Given the description of an element on the screen output the (x, y) to click on. 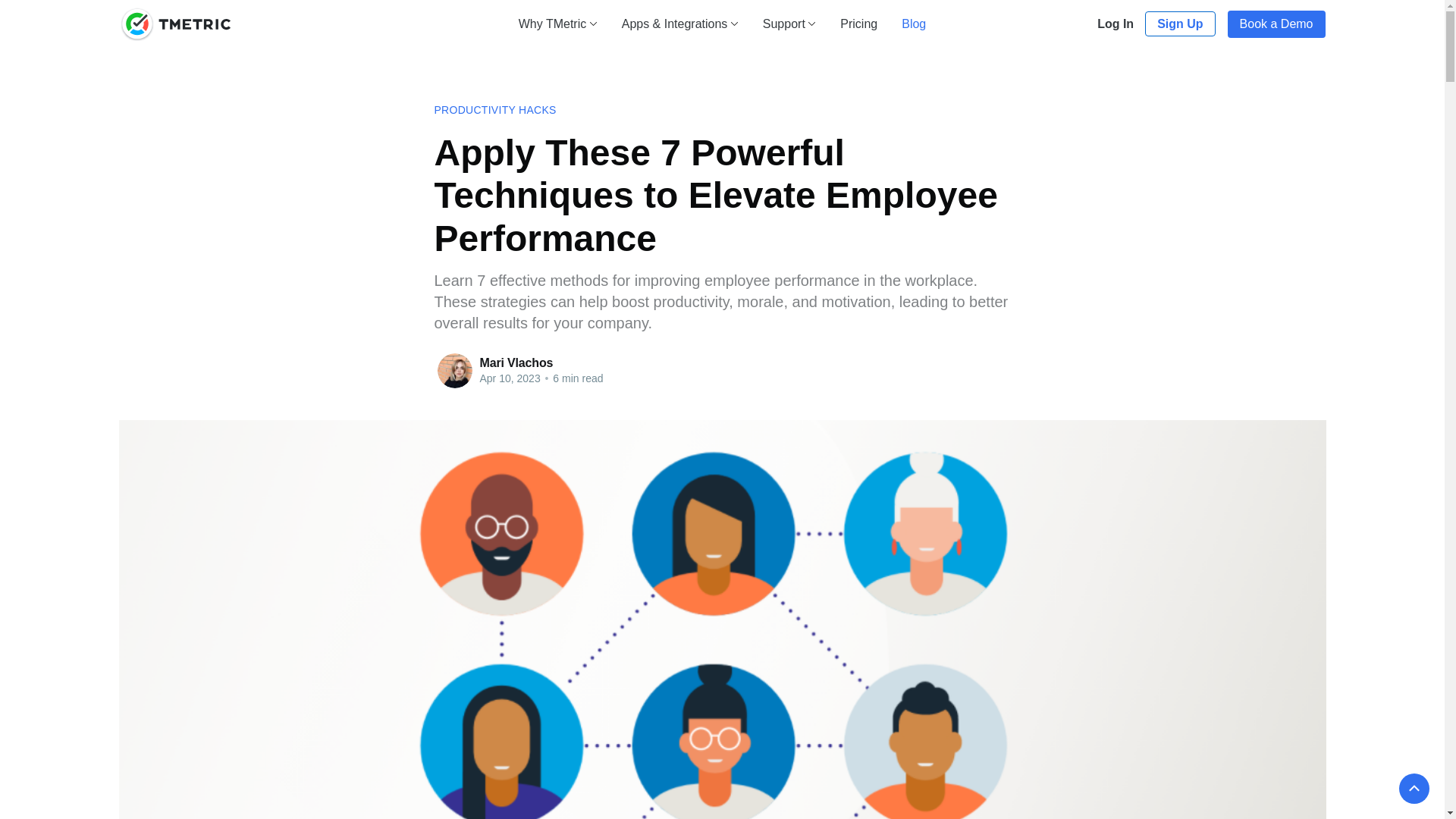
Mari Vlachos (516, 362)
Book a Demo (1275, 23)
Support (789, 23)
Sign Up (1179, 23)
Pricing (858, 23)
Blog (913, 23)
PRODUCTIVITY HACKS (494, 110)
Why TMetric (557, 23)
Log In (1115, 24)
